Given the description of an element on the screen output the (x, y) to click on. 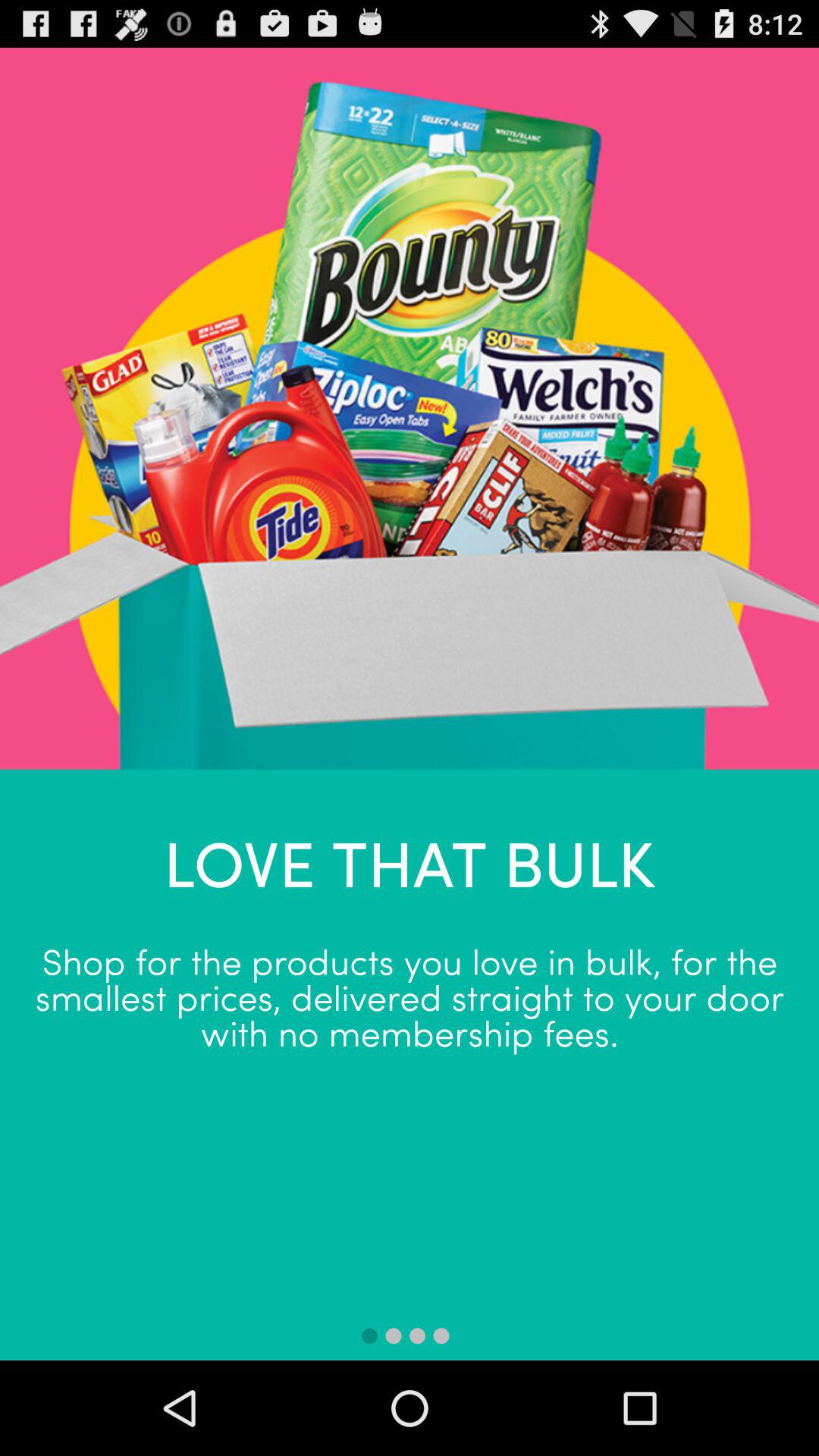
select the item below love that bulk (409, 995)
